Given the description of an element on the screen output the (x, y) to click on. 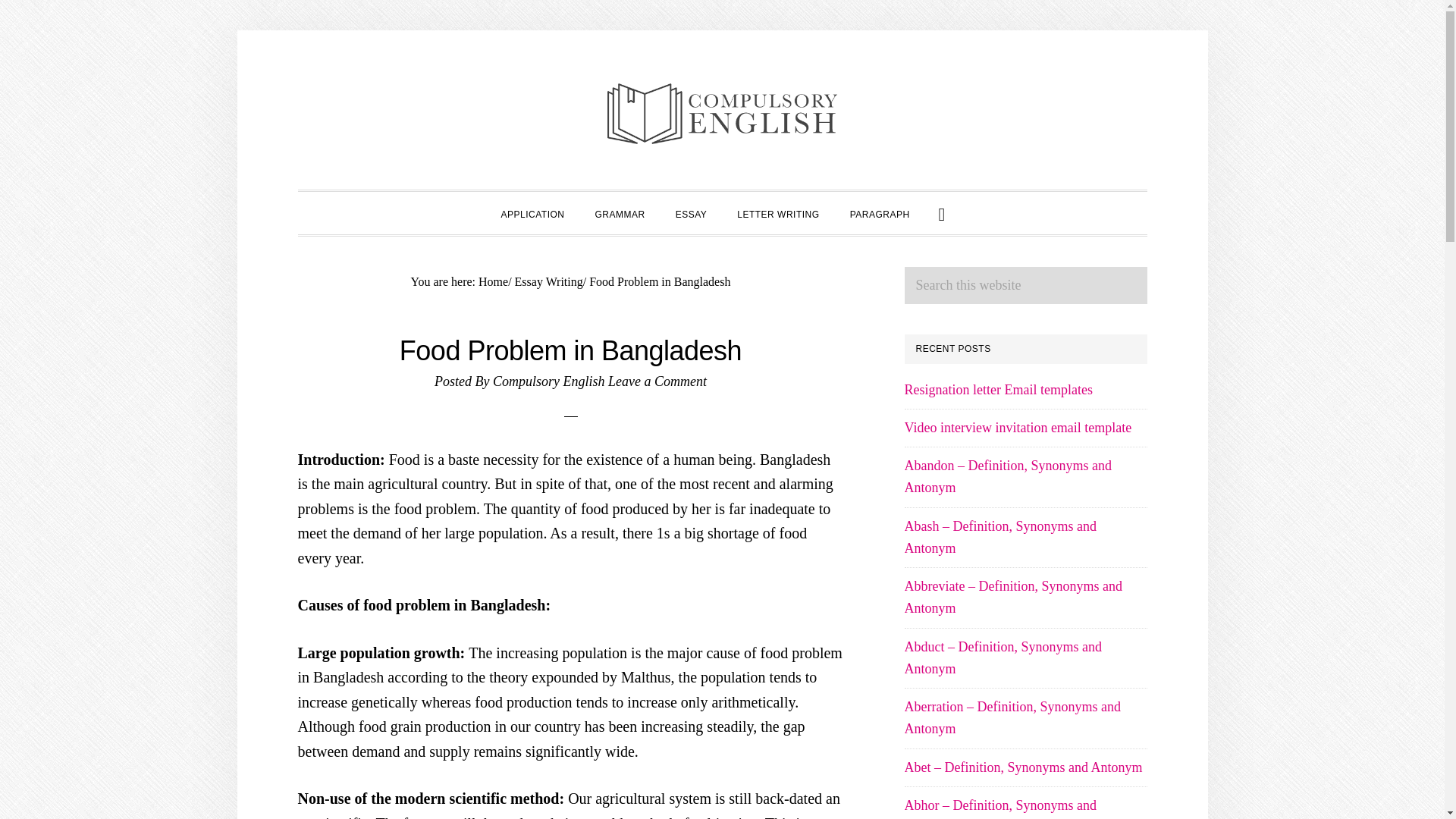
Compulsory English (549, 381)
PARAGRAPH (879, 212)
LETTER WRITING (778, 212)
Video interview invitation email template (1017, 427)
GRAMMAR (619, 212)
Resignation letter Email templates (998, 389)
APPLICATION (531, 212)
ESSAY (691, 212)
Home (493, 281)
Essay Writing (549, 281)
COMPULSORY ENGLISH (721, 113)
